Given the description of an element on the screen output the (x, y) to click on. 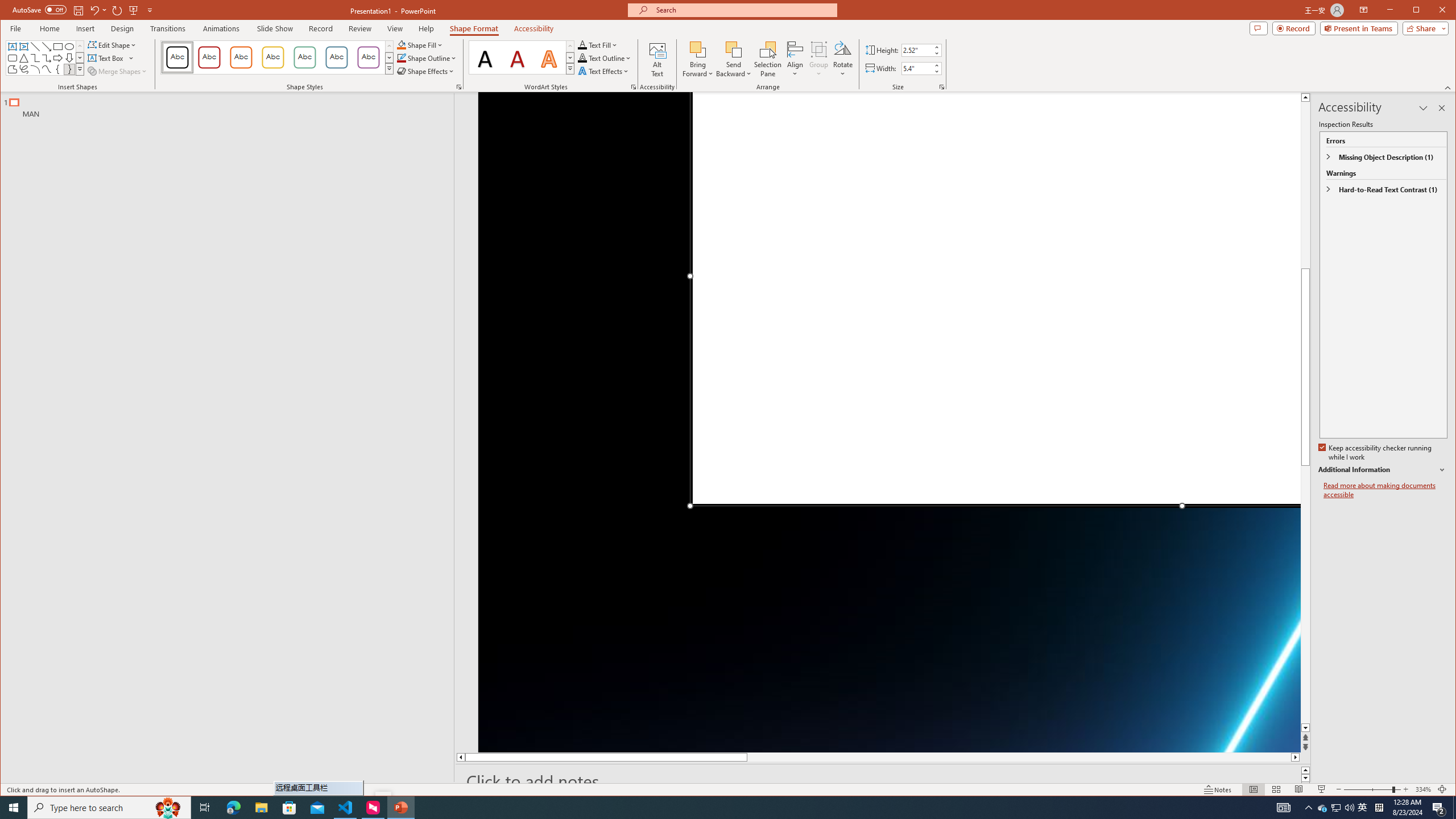
AutomationID: ShapeStylesGallery (277, 57)
Text Fill RGB(0, 0, 0) (582, 44)
Edit Shape (112, 44)
Colored Outline - Green, Accent 4 (304, 57)
Shape Height (916, 50)
